Given the description of an element on the screen output the (x, y) to click on. 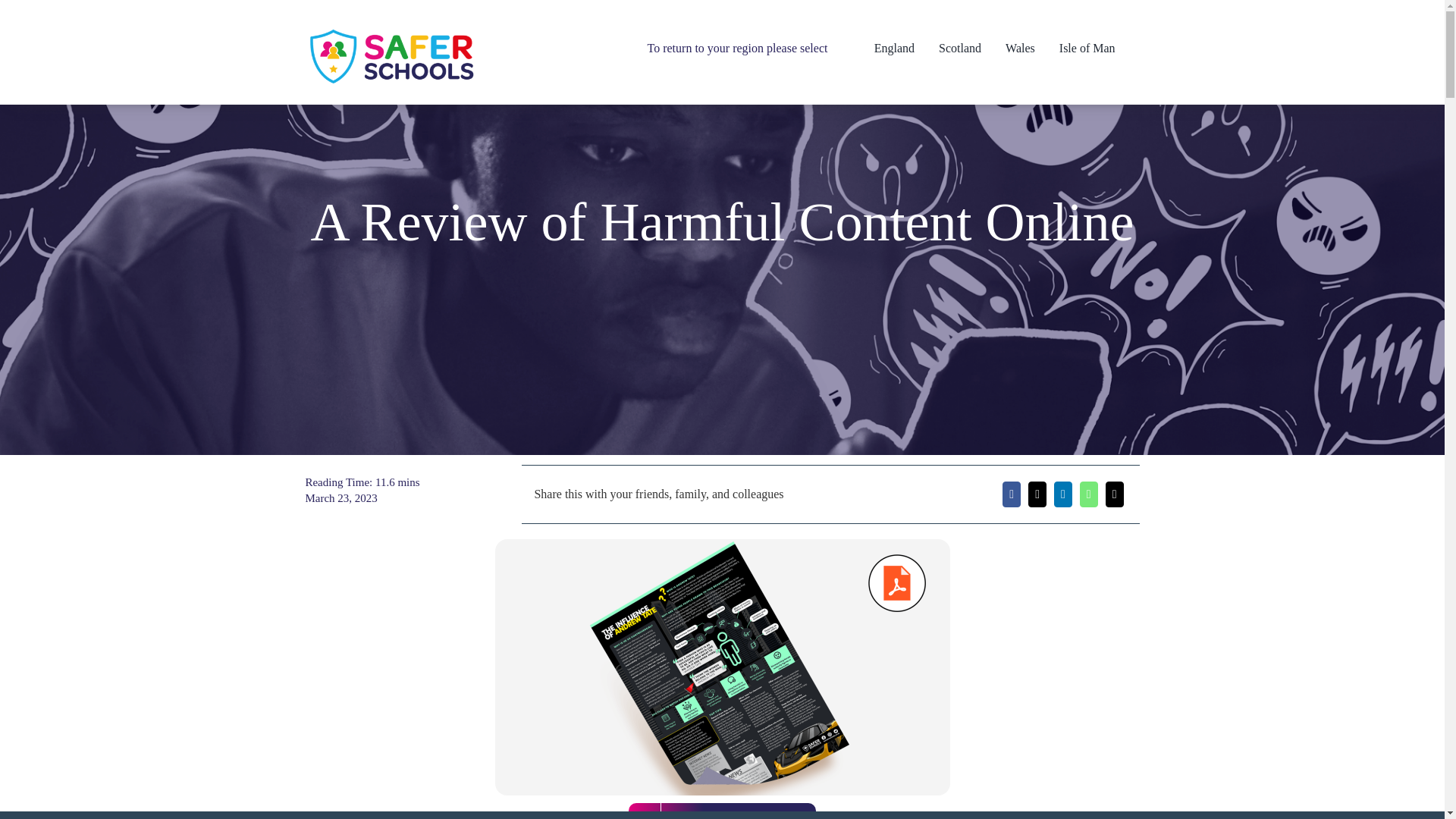
England (907, 48)
Isle of Man (1099, 48)
Scotland (972, 48)
DOWNLOAD RESOURCE (721, 811)
Wales (1032, 48)
